Given the description of an element on the screen output the (x, y) to click on. 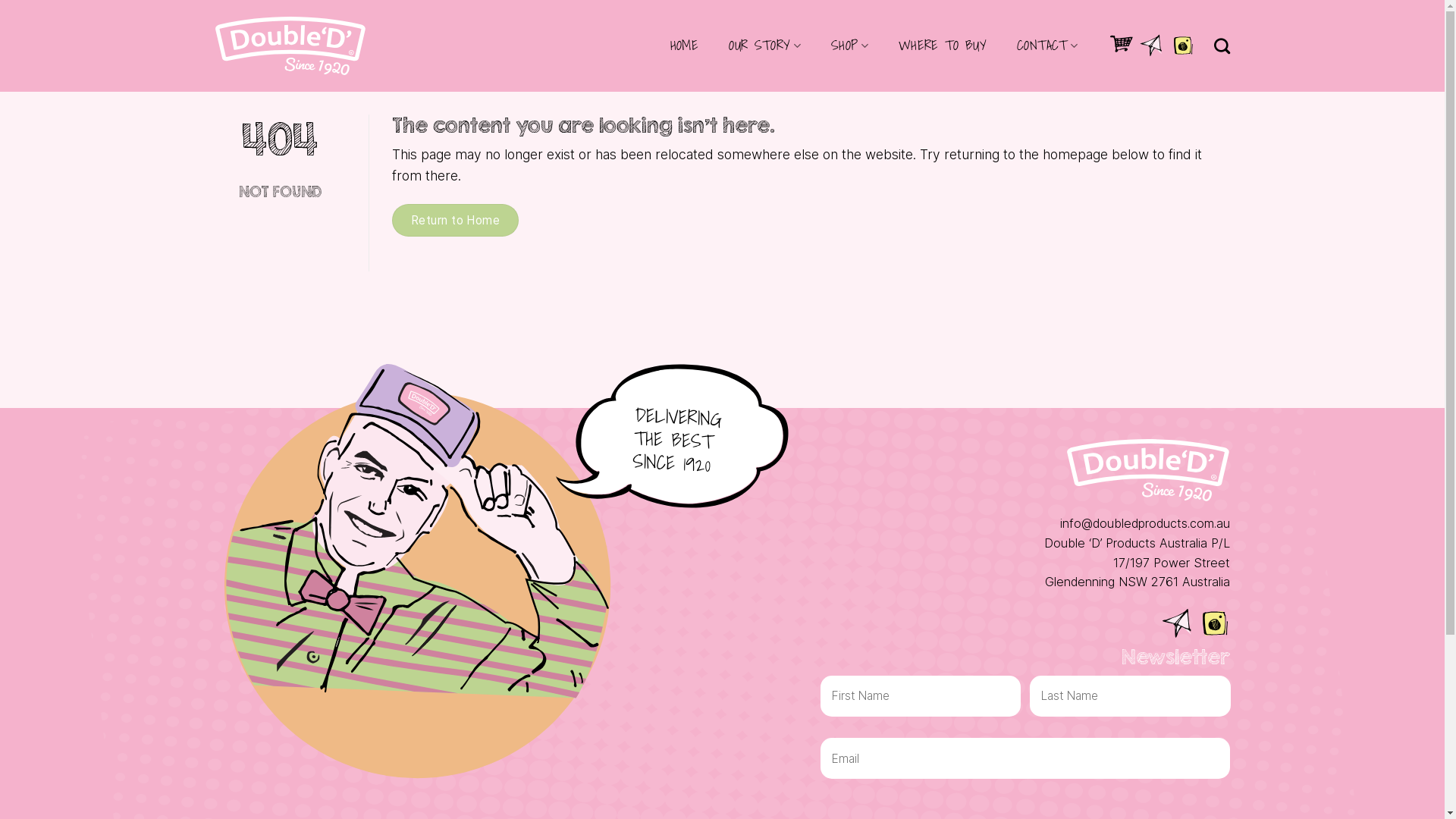
HOME Element type: text (684, 45)
CONTACT Element type: text (1046, 45)
WHERE TO BUY Element type: text (942, 45)
Cart Element type: hover (1121, 45)
Double D - Sugar Free Confectionary Healthy Sweets Element type: hover (289, 45)
OUR STORY Element type: text (764, 45)
Skip to content Element type: text (0, 0)
Return to Home Element type: text (455, 219)
SHOP Element type: text (849, 45)
